Given the description of an element on the screen output the (x, y) to click on. 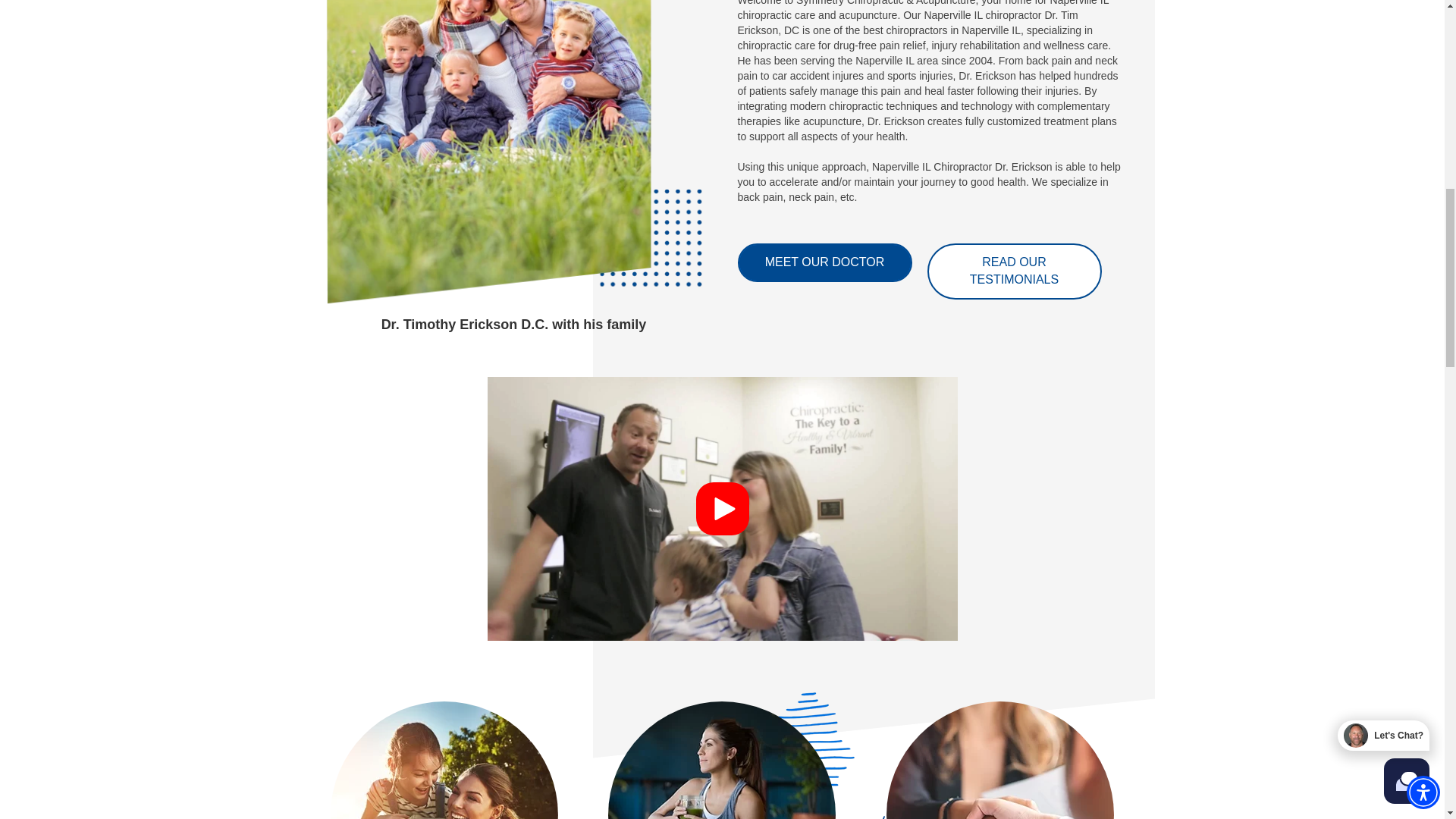
Discover-Chiropractic-Care-Emma-Circle-1.webp (999, 760)
Enjoy-The-Experiance-Emma-Circle-1.webp (721, 760)
Chiropractor Naperville IL Timothy Erickson (513, 154)
Chiropractic Naperville IL All Ages Welcome (443, 760)
